Given the description of an element on the screen output the (x, y) to click on. 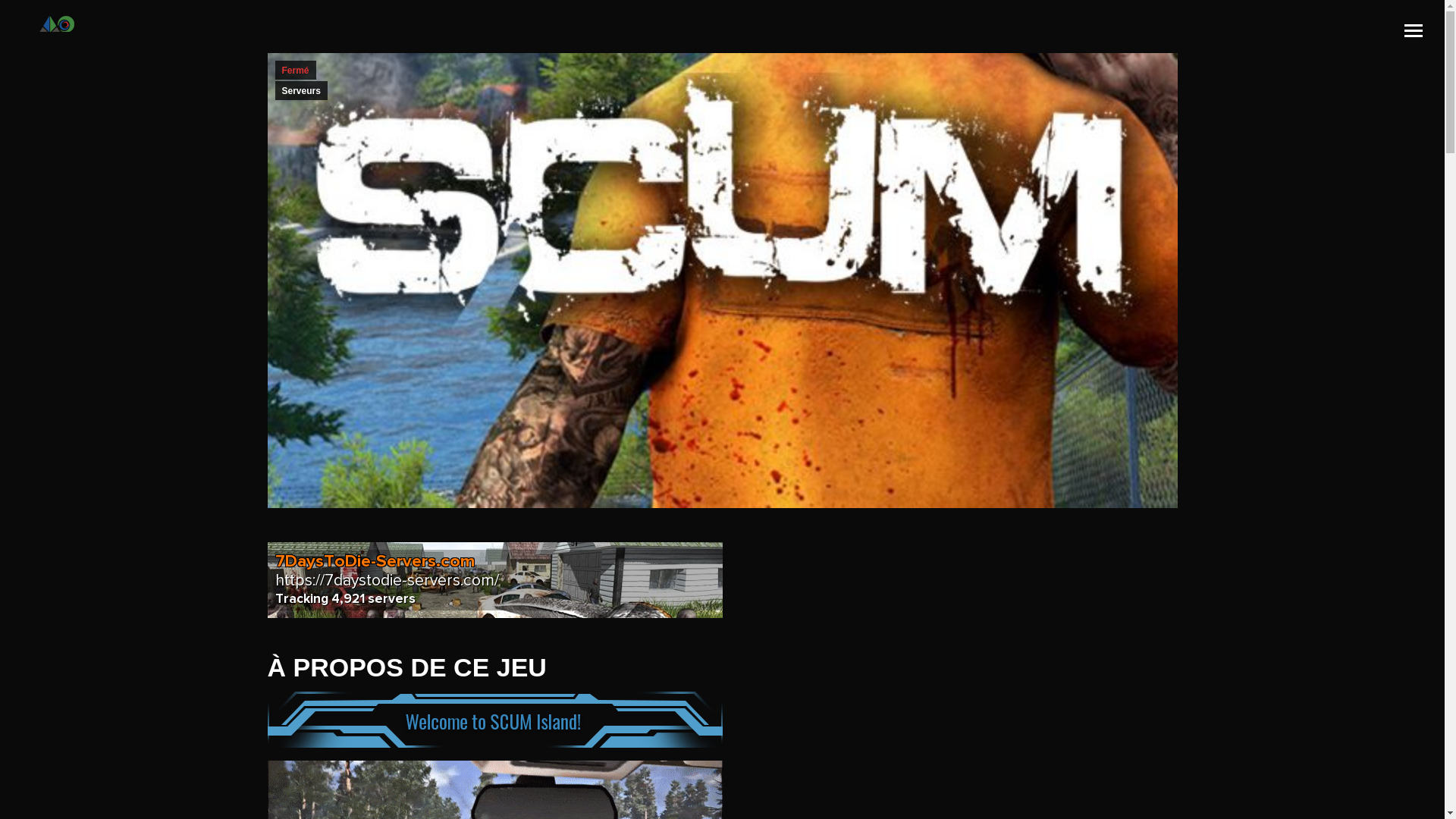
Serveurs (300, 90)
